Given the description of an element on the screen output the (x, y) to click on. 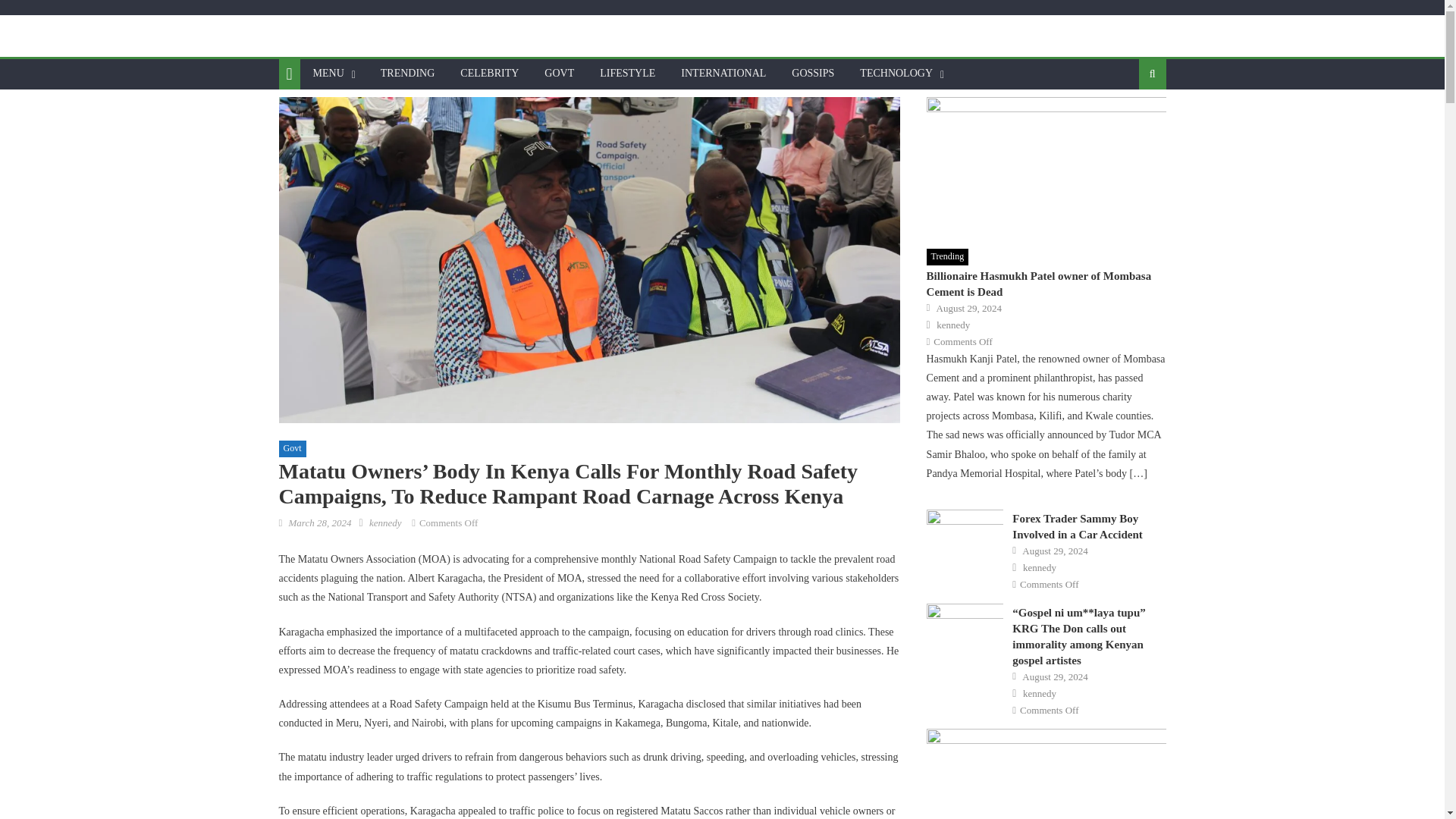
kennedy (385, 522)
TECHNOLOGY (895, 72)
March 28, 2024 (319, 522)
GOSSIPS (812, 72)
Govt (292, 448)
INTERNATIONAL (723, 72)
GOVT (558, 72)
Forex Trader Sammy Boy Involved in a Car Accident (964, 536)
LIFESTYLE (627, 72)
